Given the description of an element on the screen output the (x, y) to click on. 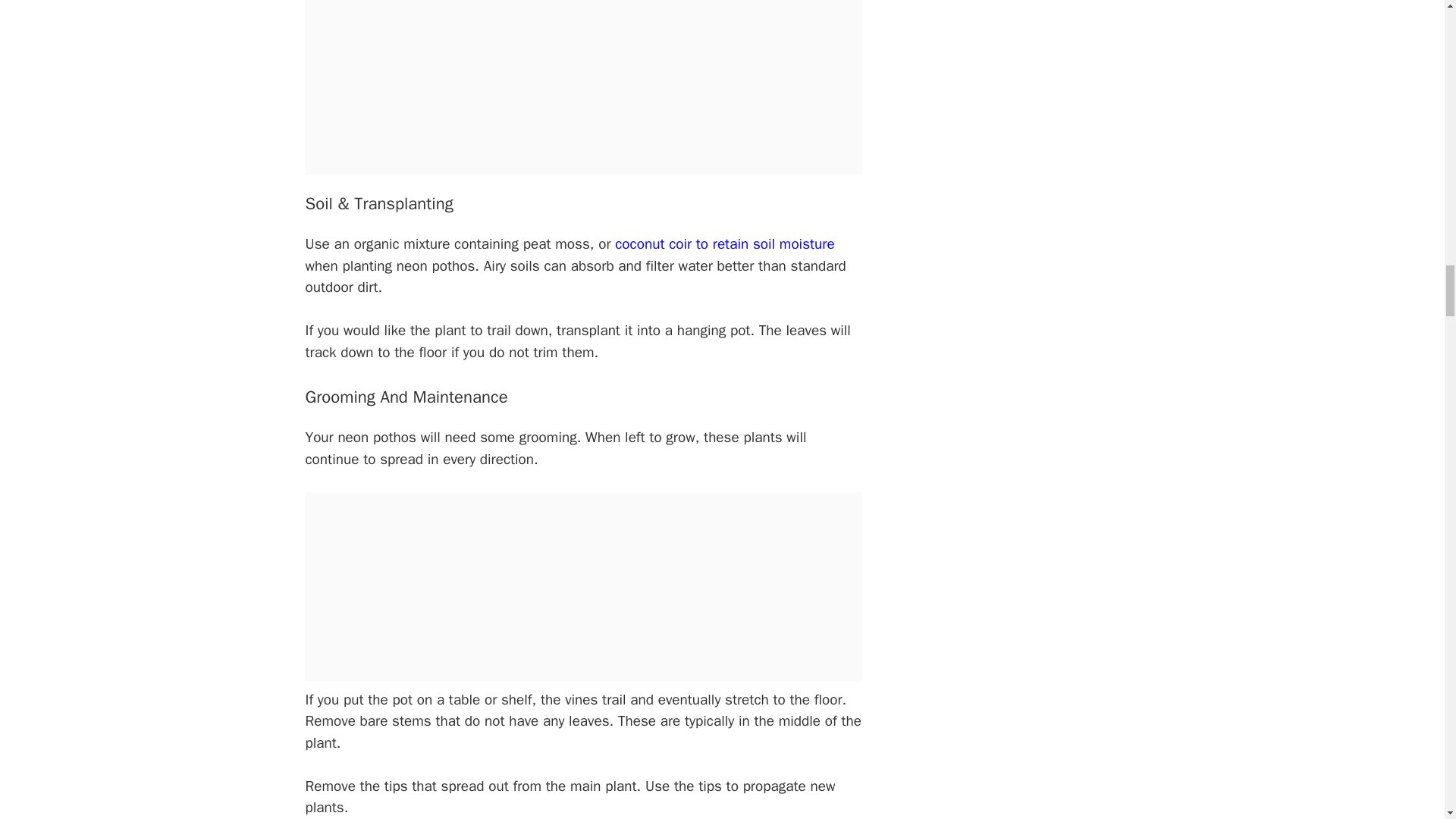
coconut coir to retain soil moisture (724, 244)
